Given the description of an element on the screen output the (x, y) to click on. 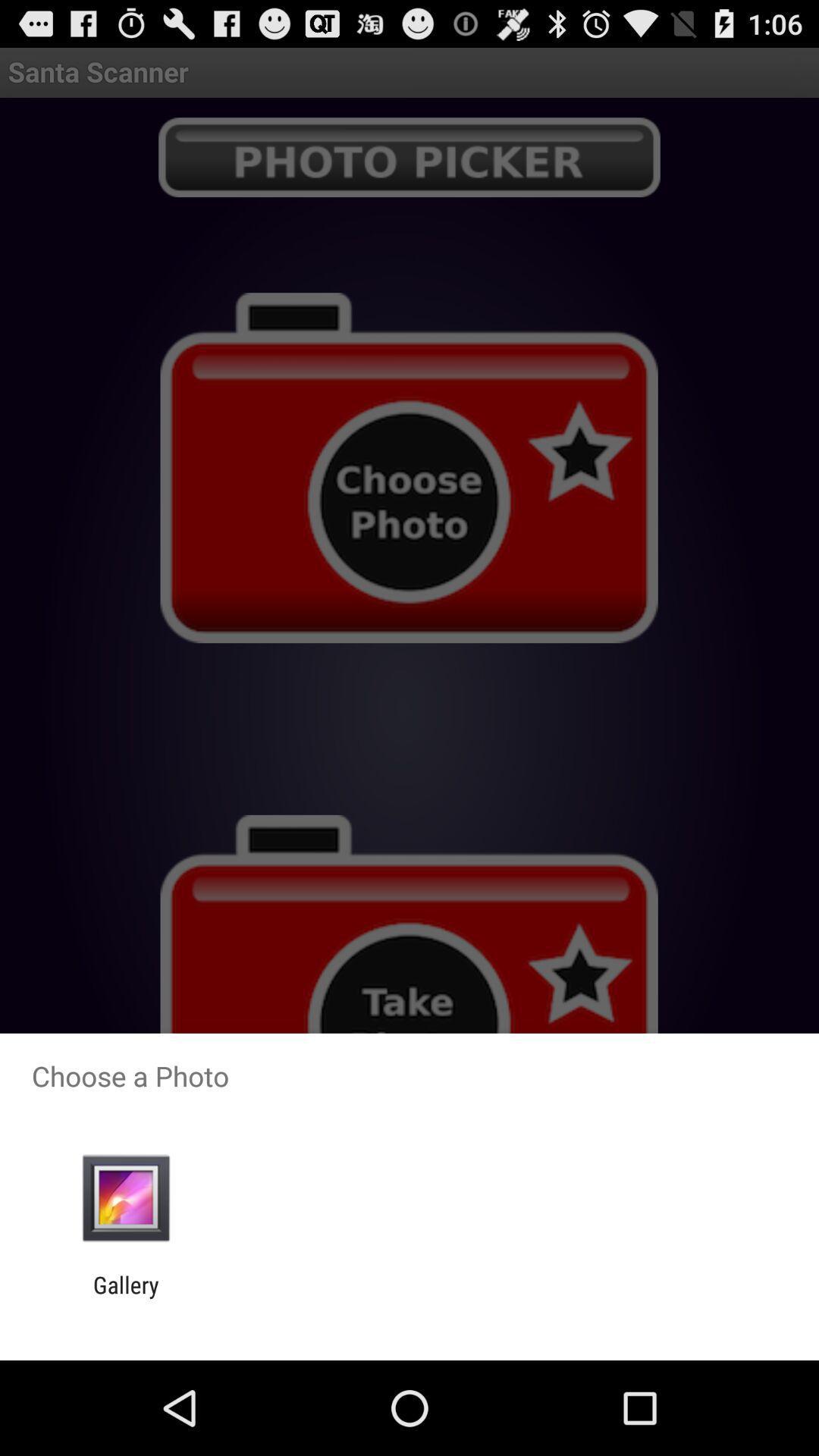
open item below the choose a photo item (126, 1198)
